Given the description of an element on the screen output the (x, y) to click on. 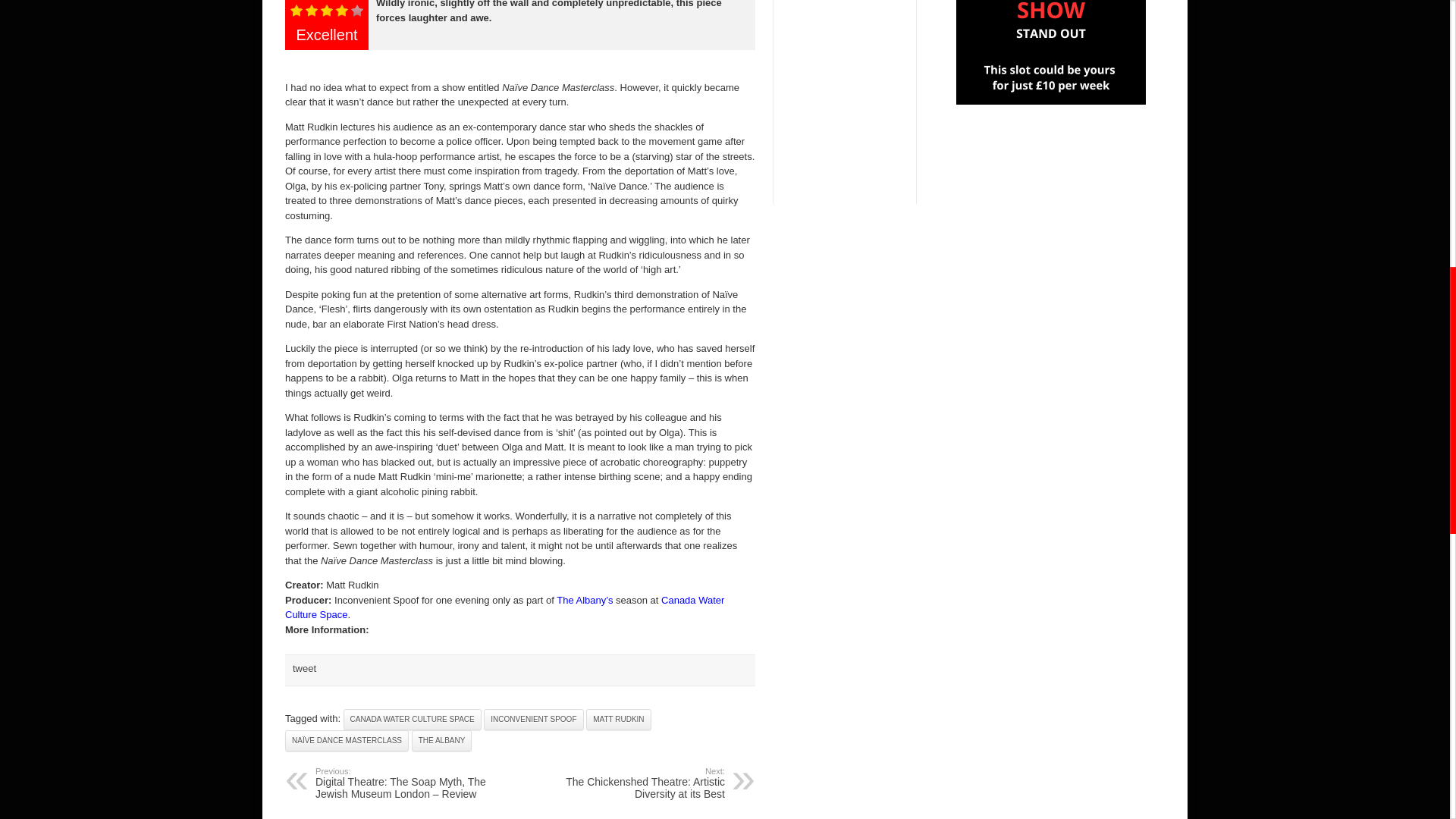
Excellent (326, 11)
Canada Water Culture Space (504, 607)
